Given the description of an element on the screen output the (x, y) to click on. 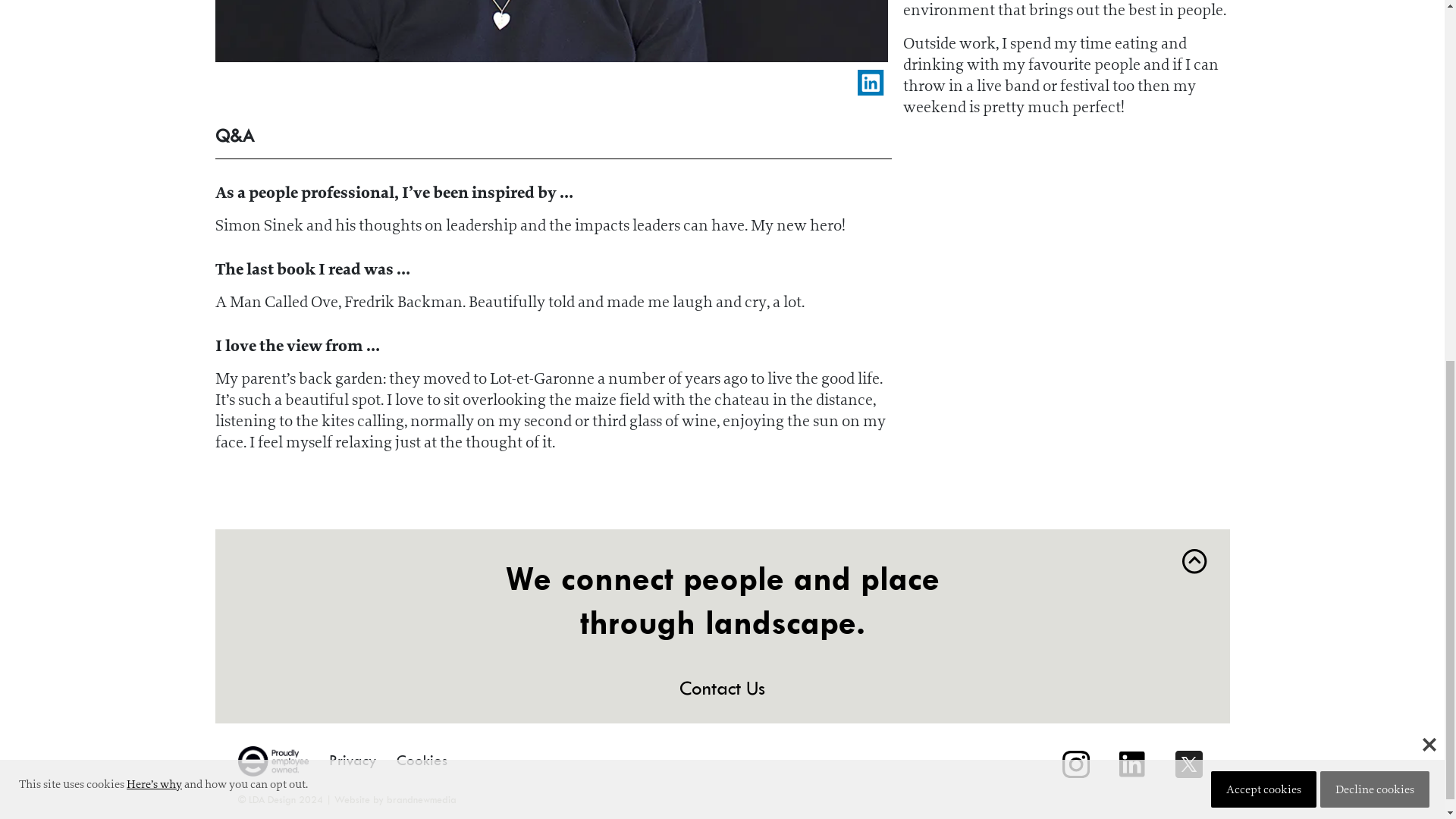
Privacy (353, 761)
Accept cookies (1263, 135)
Contact Us (722, 688)
Cookies (421, 761)
brandnewmedia (422, 800)
Decline cookies (1374, 135)
